Given the description of an element on the screen output the (x, y) to click on. 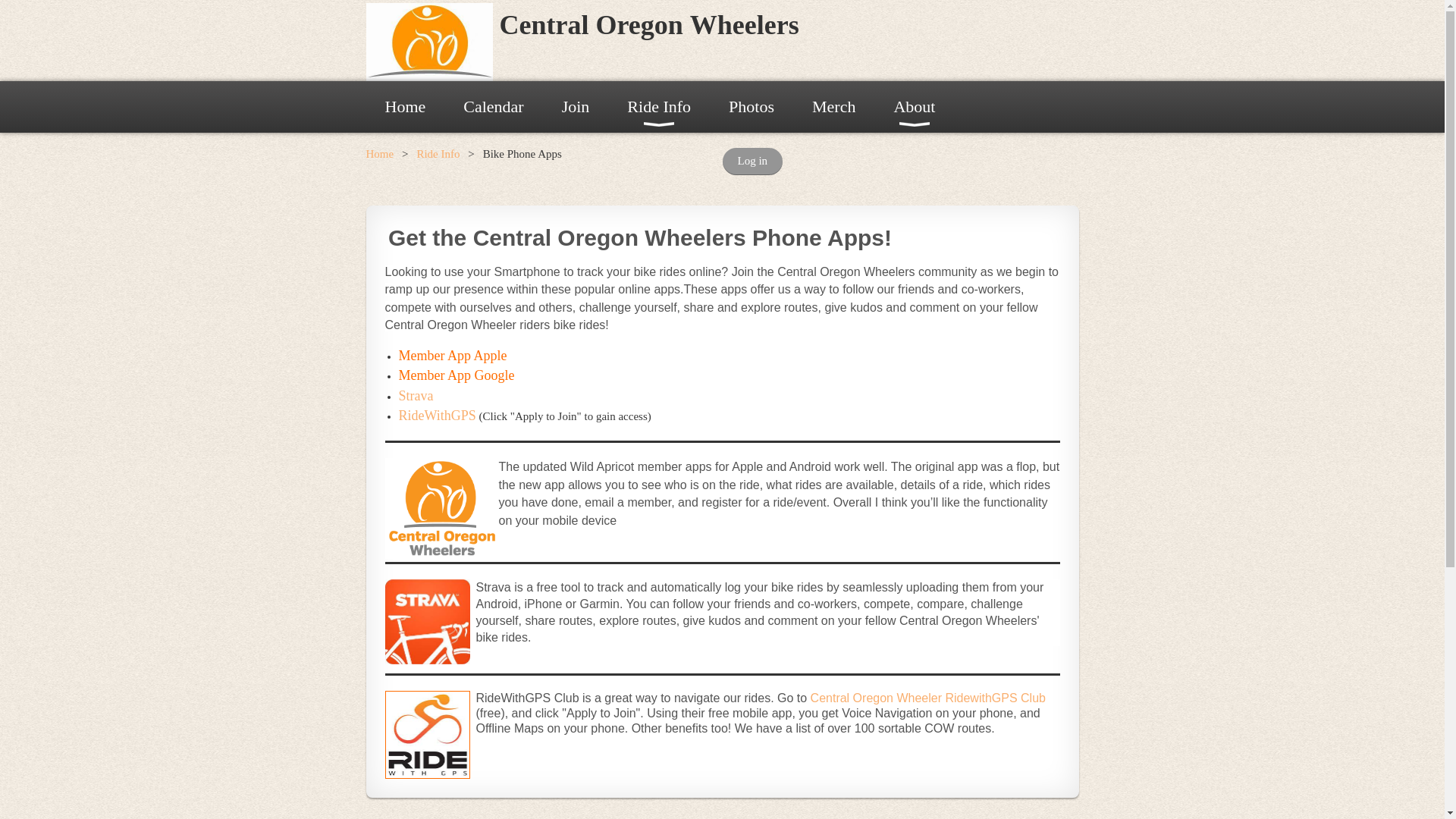
Join (575, 106)
Member App Google (456, 376)
Home (404, 106)
Ride Info (438, 153)
Home (379, 153)
Calendar (492, 106)
Member App Apple (452, 356)
Ride Info (659, 106)
Home (404, 106)
Photos (751, 106)
About (914, 106)
Calendar (492, 106)
Merch (834, 106)
Ride Info (659, 106)
Join (575, 106)
